Given the description of an element on the screen output the (x, y) to click on. 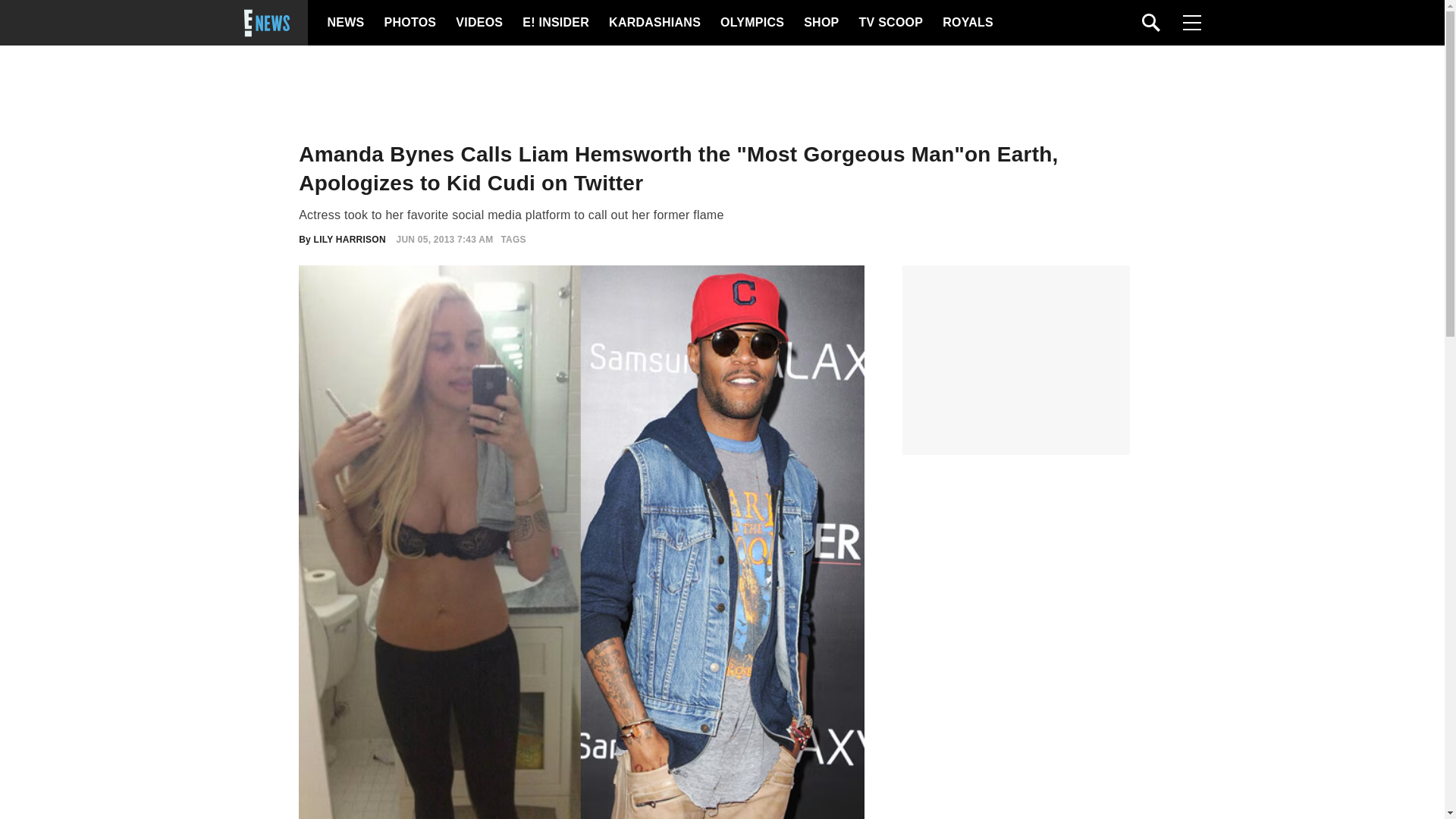
TV SCOOP (890, 22)
PHOTOS (408, 22)
LILY HARRISON (349, 239)
E! INSIDER (555, 22)
SHOP (820, 22)
OLYMPICS (751, 22)
ROYALS (966, 22)
KARDASHIANS (653, 22)
NEWS (345, 22)
VIDEOS (478, 22)
